Given the description of an element on the screen output the (x, y) to click on. 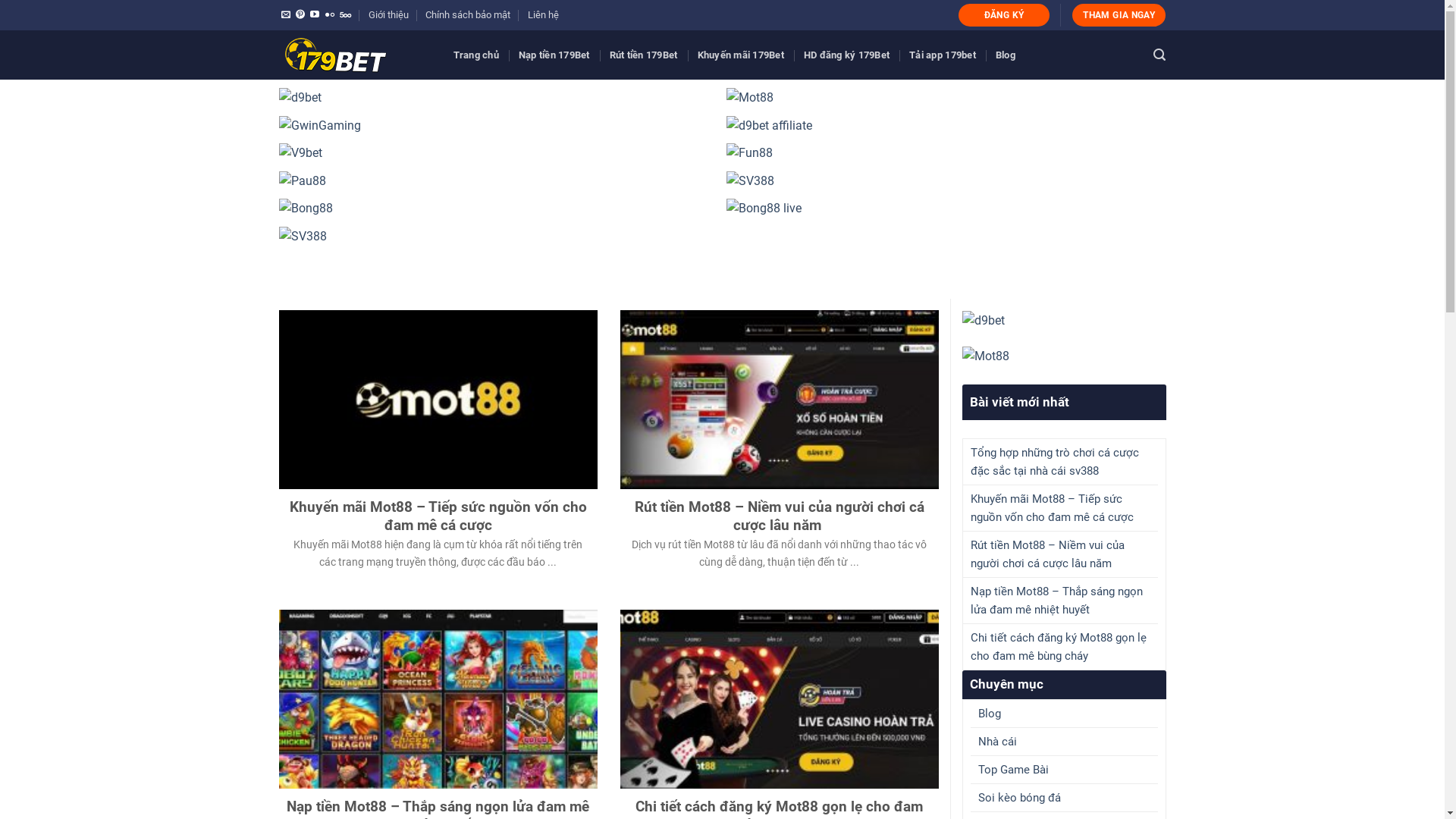
SV388 Element type: hover (946, 180)
d9bet Element type: hover (1063, 320)
Blog Element type: text (1005, 54)
d9bet Element type: hover (498, 97)
Fun88 Element type: hover (946, 152)
V9bet Element type: hover (498, 152)
Bong88 Element type: hover (498, 207)
Pau88 Element type: hover (498, 180)
Blog Element type: text (989, 713)
Mot88 Element type: hover (1063, 355)
Mot88 Element type: hover (946, 97)
d9bet affiliate Element type: hover (946, 125)
GwinGaming Element type: hover (498, 125)
Bong88 live Element type: hover (946, 207)
SV388 Element type: hover (498, 235)
THAM GIA NGAY Element type: text (1118, 14)
